Given the description of an element on the screen output the (x, y) to click on. 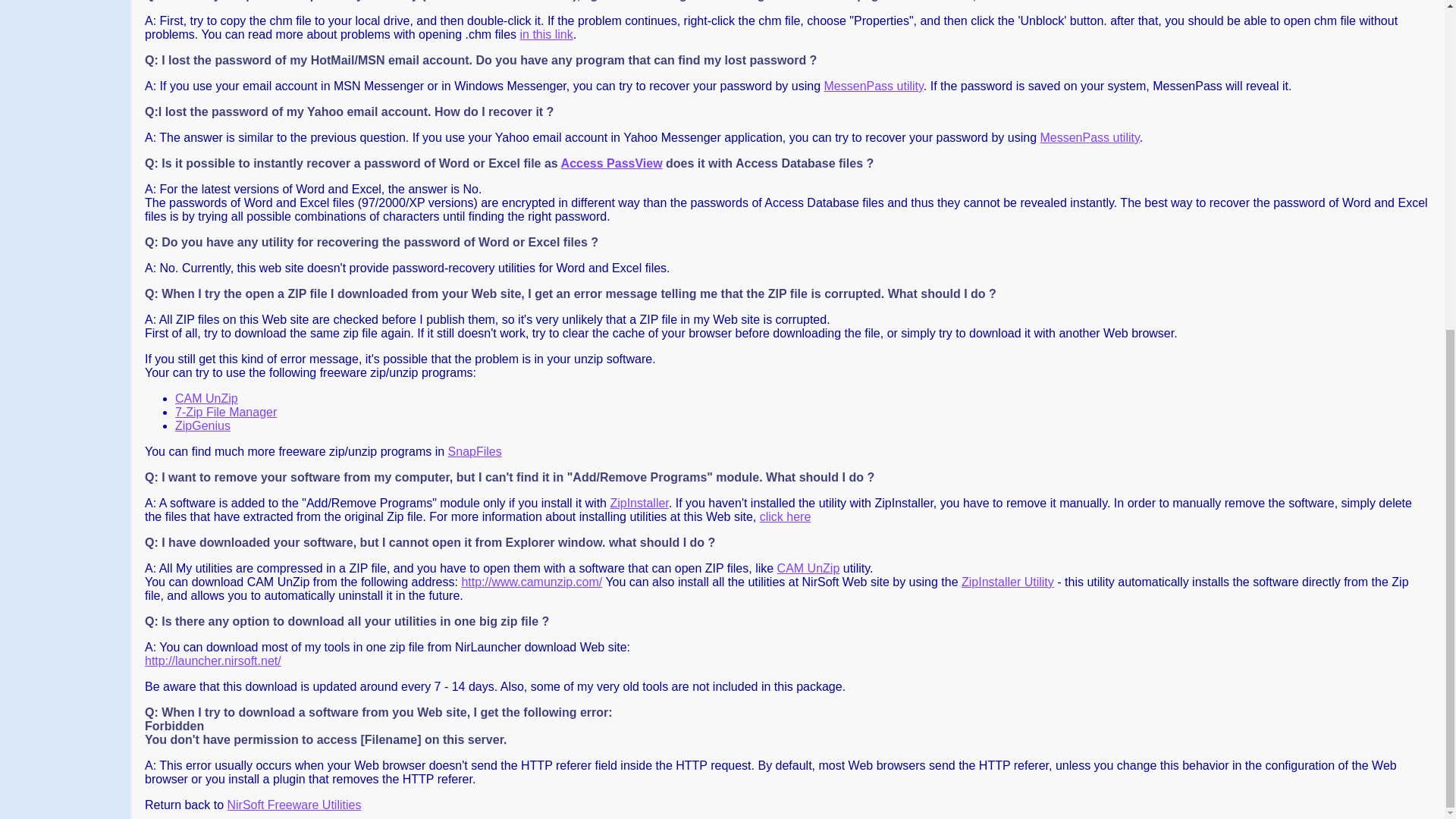
in this link (546, 33)
NirSoft Freeware Utilities (294, 804)
click here (785, 516)
MessenPass utility (1088, 137)
MessenPass utility (873, 85)
ZipInstaller Utility (1007, 581)
ZipGenius (202, 425)
CAM UnZip (808, 567)
ZipInstaller (639, 502)
7-Zip File Manager (225, 411)
Access PassView (611, 163)
SnapFiles (475, 451)
CAM UnZip (206, 398)
